Given the description of an element on the screen output the (x, y) to click on. 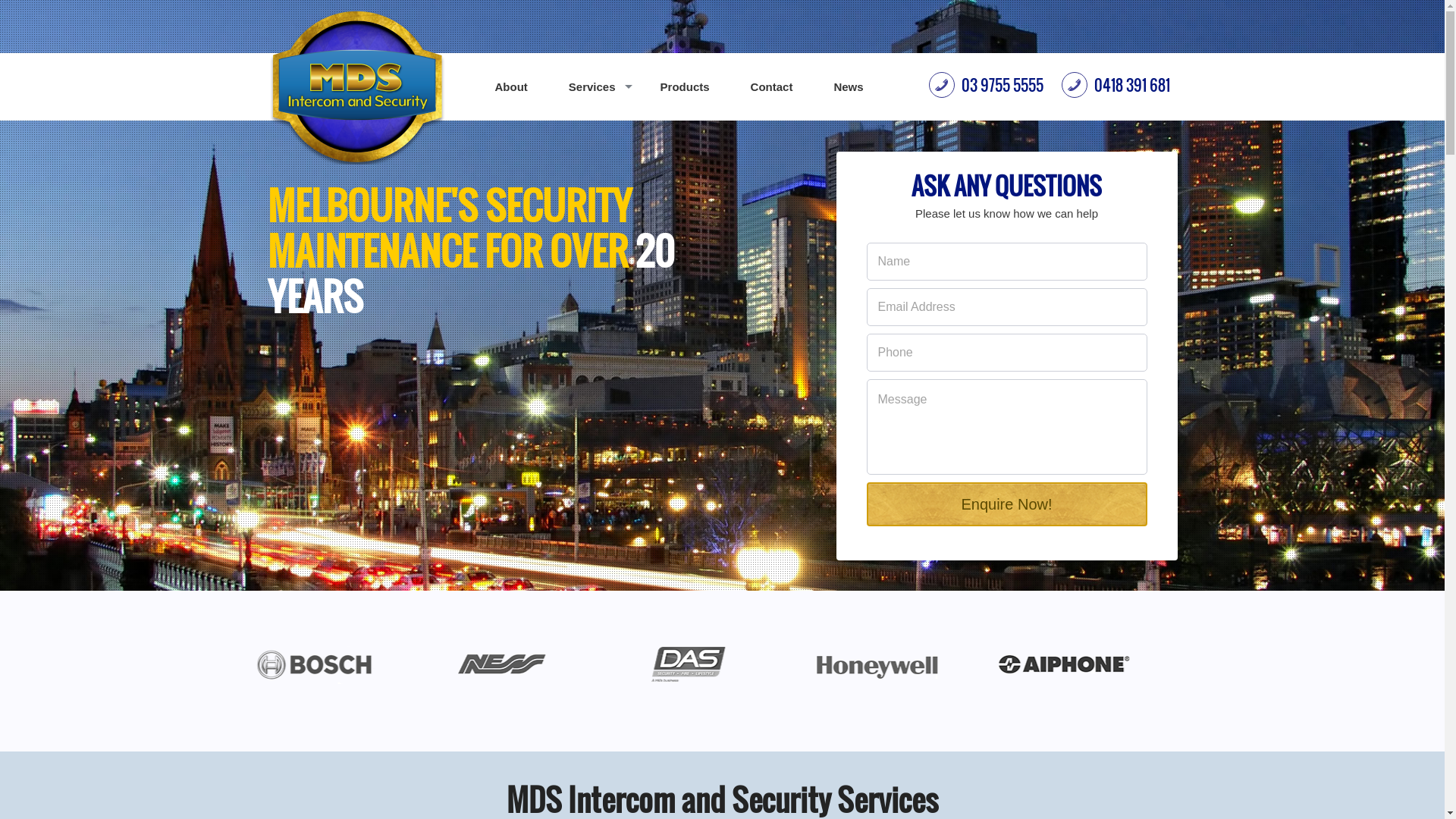
Services Element type: text (594, 87)
Enquire Now! Element type: text (1006, 504)
03 9755 5555 Element type: text (986, 84)
News Element type: text (847, 87)
Contact Element type: text (771, 87)
0418 391 681 Element type: text (1115, 84)
About Element type: text (511, 87)
Products Element type: text (685, 87)
